Given the description of an element on the screen output the (x, y) to click on. 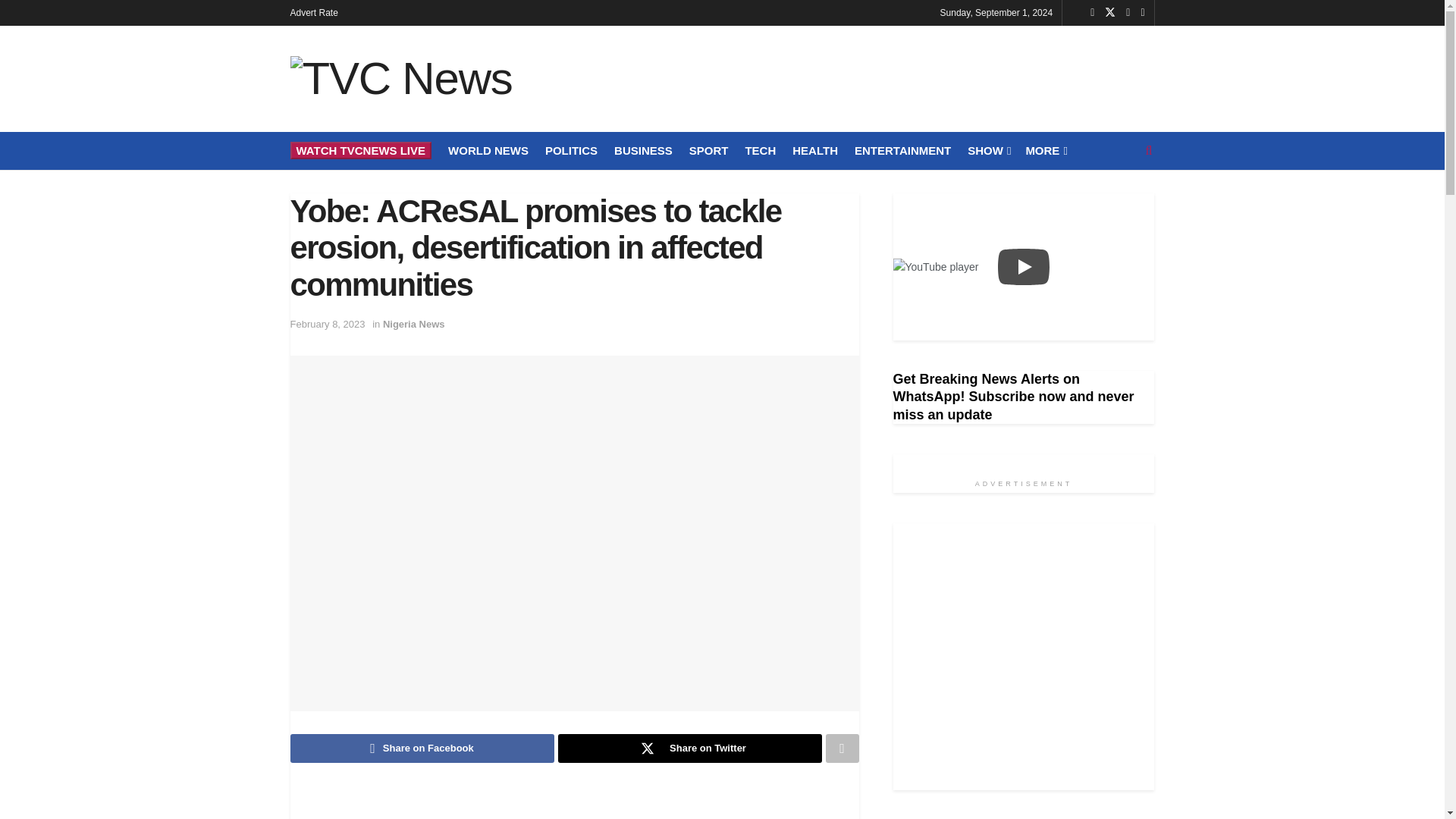
WATCH TVCNEWS LIVE (359, 149)
ENTERTAINMENT (902, 150)
SHOW (988, 150)
TECH (760, 150)
BUSINESS (643, 150)
MORE (1044, 150)
WORLD NEWS (488, 150)
Advert Rate (313, 12)
HEALTH (815, 150)
POLITICS (570, 150)
